Given the description of an element on the screen output the (x, y) to click on. 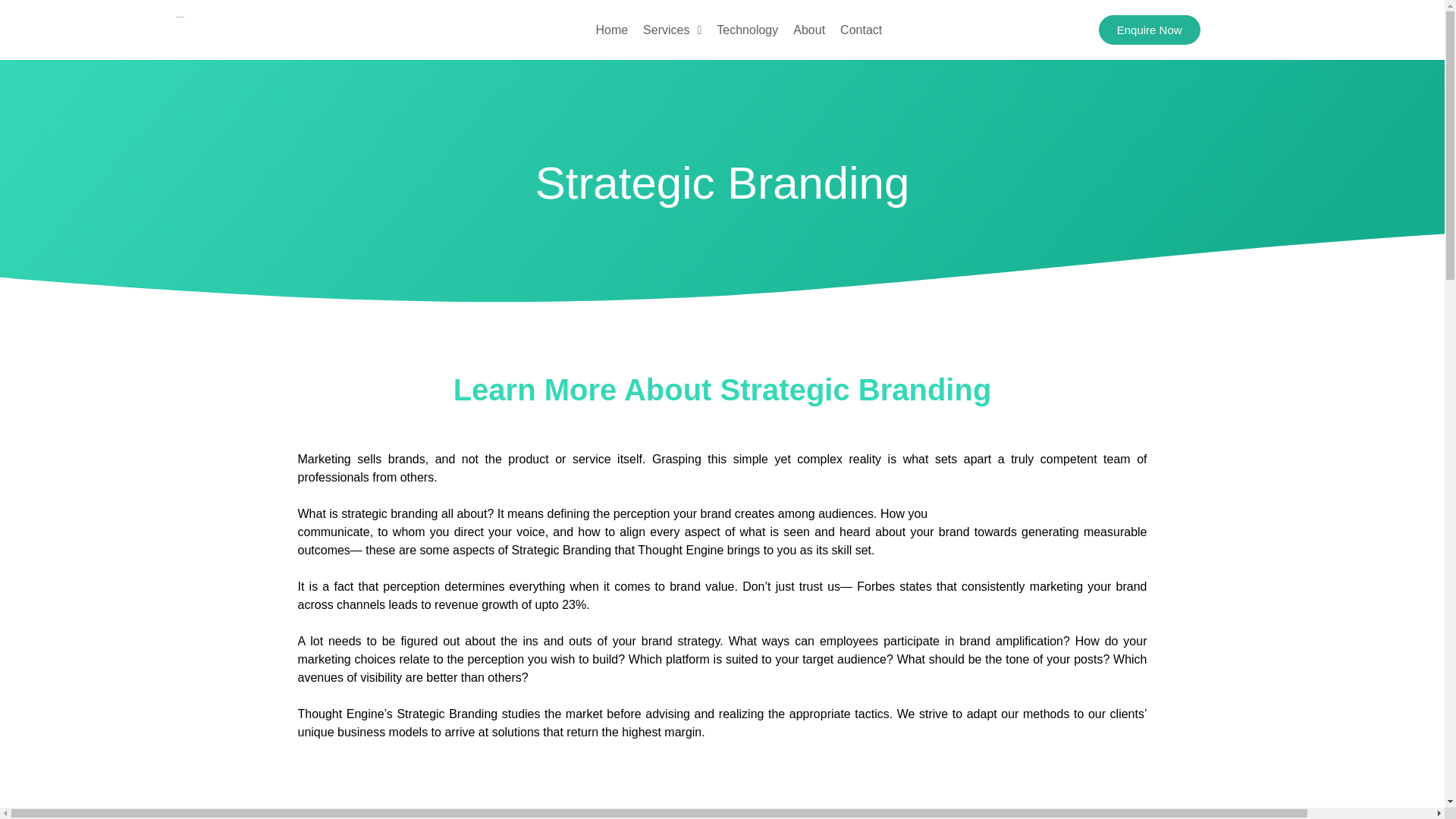
Home (611, 29)
Services (671, 29)
Technology (747, 29)
